Given the description of an element on the screen output the (x, y) to click on. 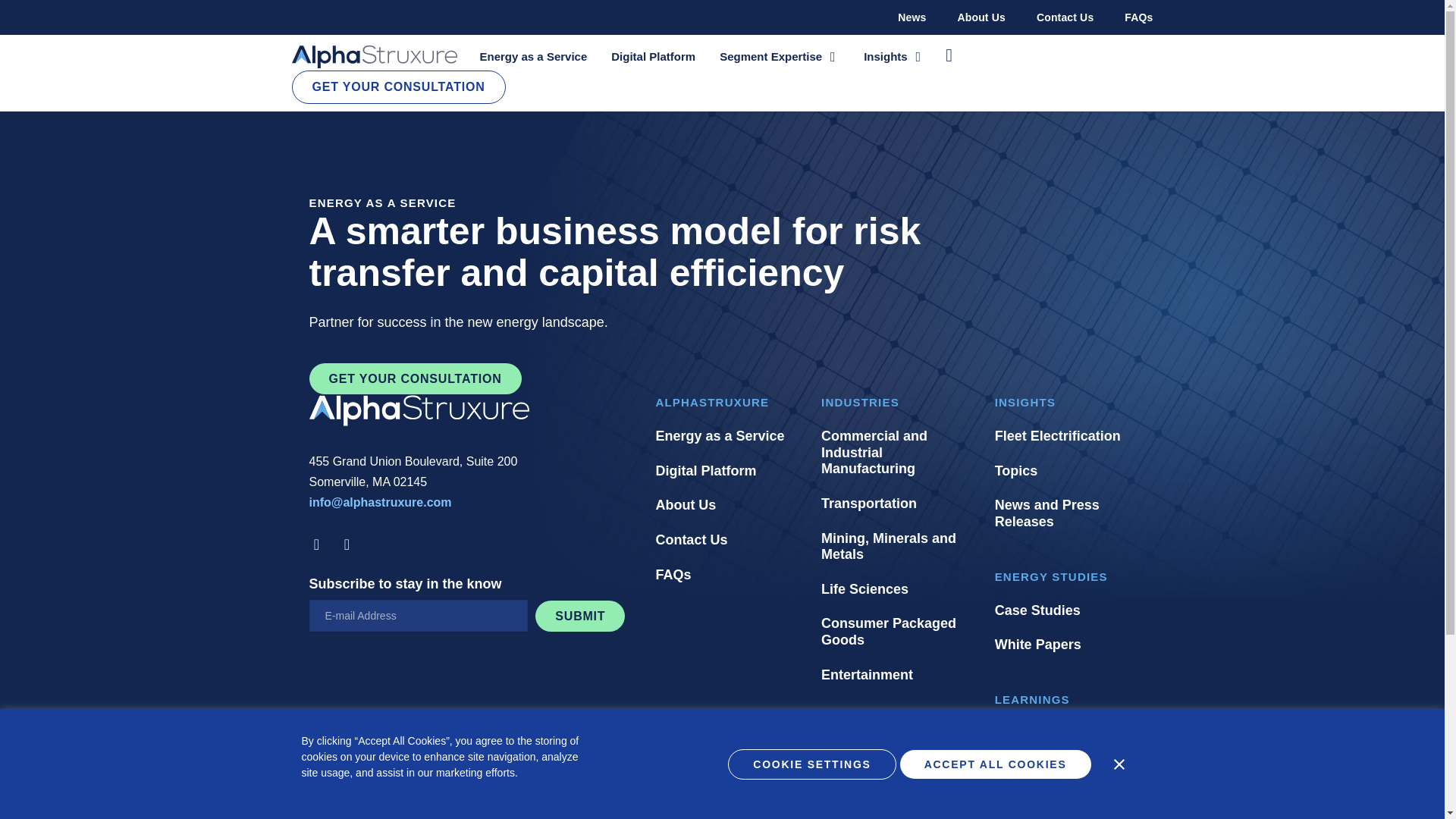
Insights (885, 56)
Energy as a Service (532, 56)
Digital Platform (653, 56)
Segment Expertise (770, 56)
Contact Us (1064, 17)
About Us (980, 17)
